Given the description of an element on the screen output the (x, y) to click on. 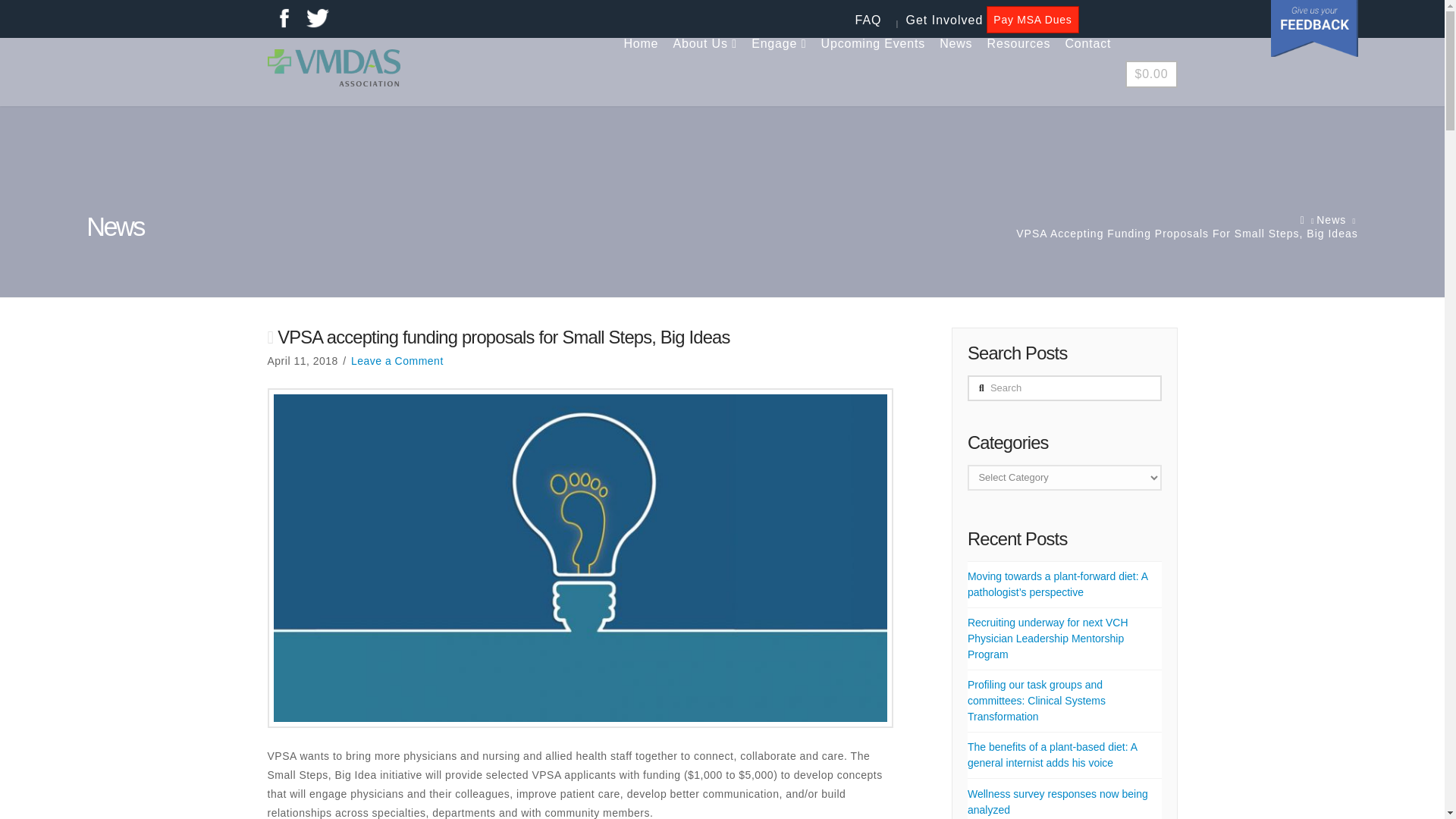
Pay MSA Dues (1032, 19)
Your Board Works For You (332, 67)
Contact (1087, 71)
You Are Here (1186, 233)
Engage (778, 71)
About Us (704, 71)
Get Involved (944, 19)
Upcoming Events (873, 71)
Resources (1018, 71)
FAQ (869, 19)
